Given the description of an element on the screen output the (x, y) to click on. 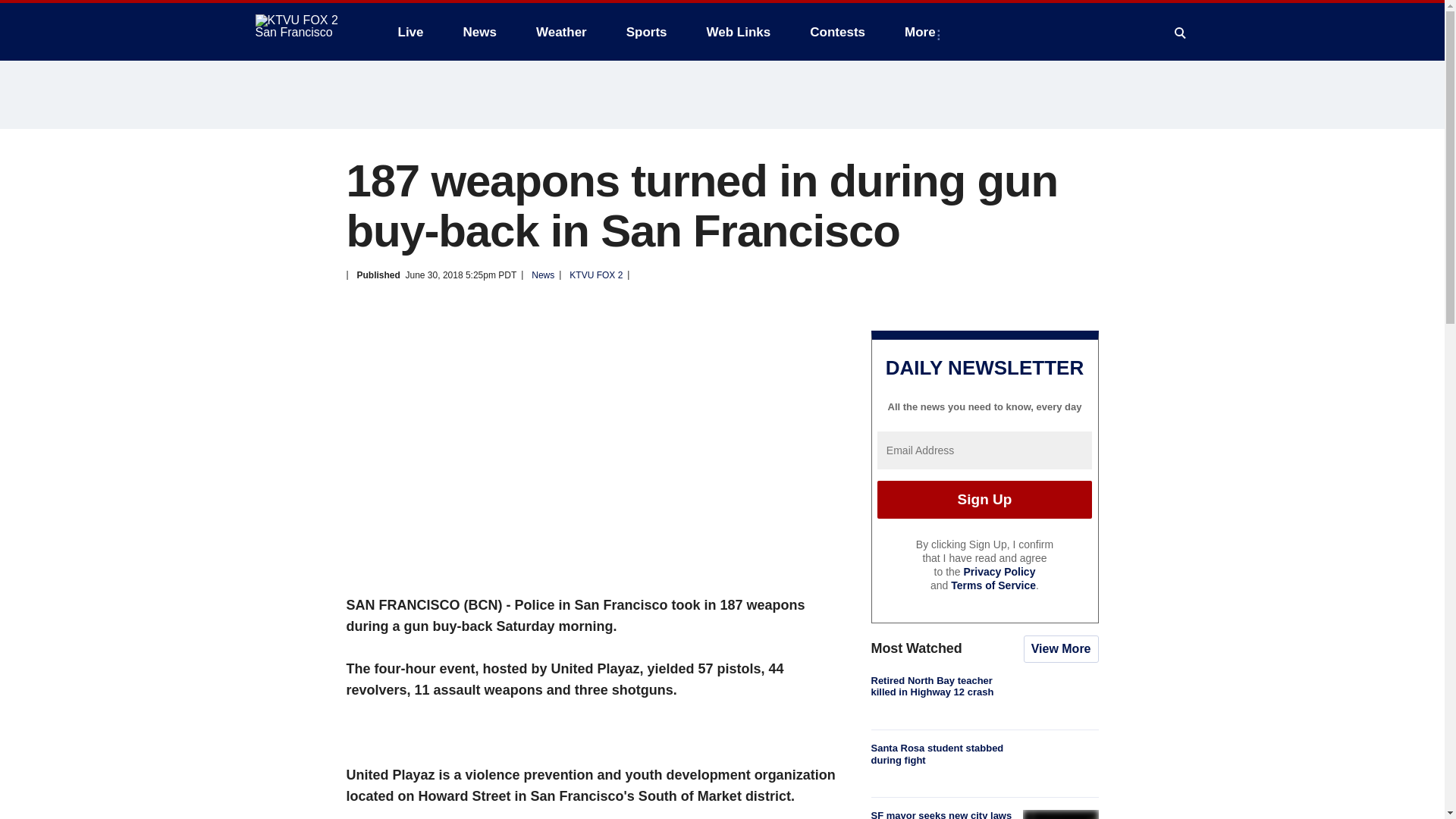
Sports (646, 32)
Contests (837, 32)
Sign Up (984, 499)
More (922, 32)
Weather (561, 32)
News (479, 32)
Web Links (738, 32)
Live (410, 32)
